Given the description of an element on the screen output the (x, y) to click on. 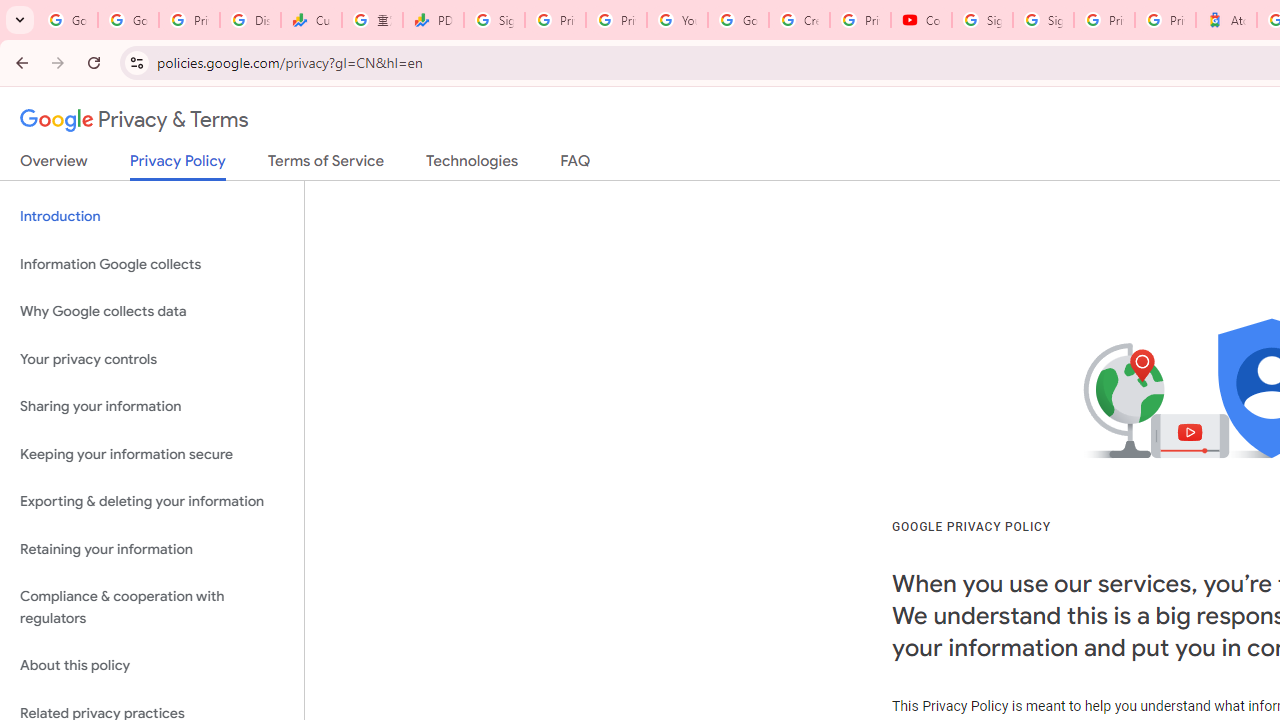
Sharing your information (152, 407)
About this policy (152, 666)
Sign in - Google Accounts (493, 20)
Information Google collects (152, 263)
Create your Google Account (799, 20)
Sign in - Google Accounts (1042, 20)
Google Account Help (738, 20)
